Given the description of an element on the screen output the (x, y) to click on. 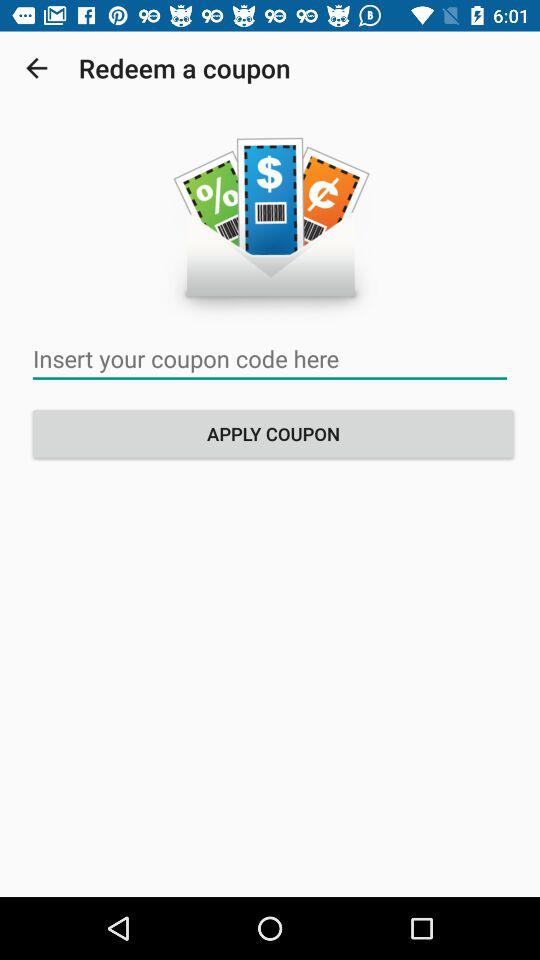
insert coupon code (269, 358)
